Given the description of an element on the screen output the (x, y) to click on. 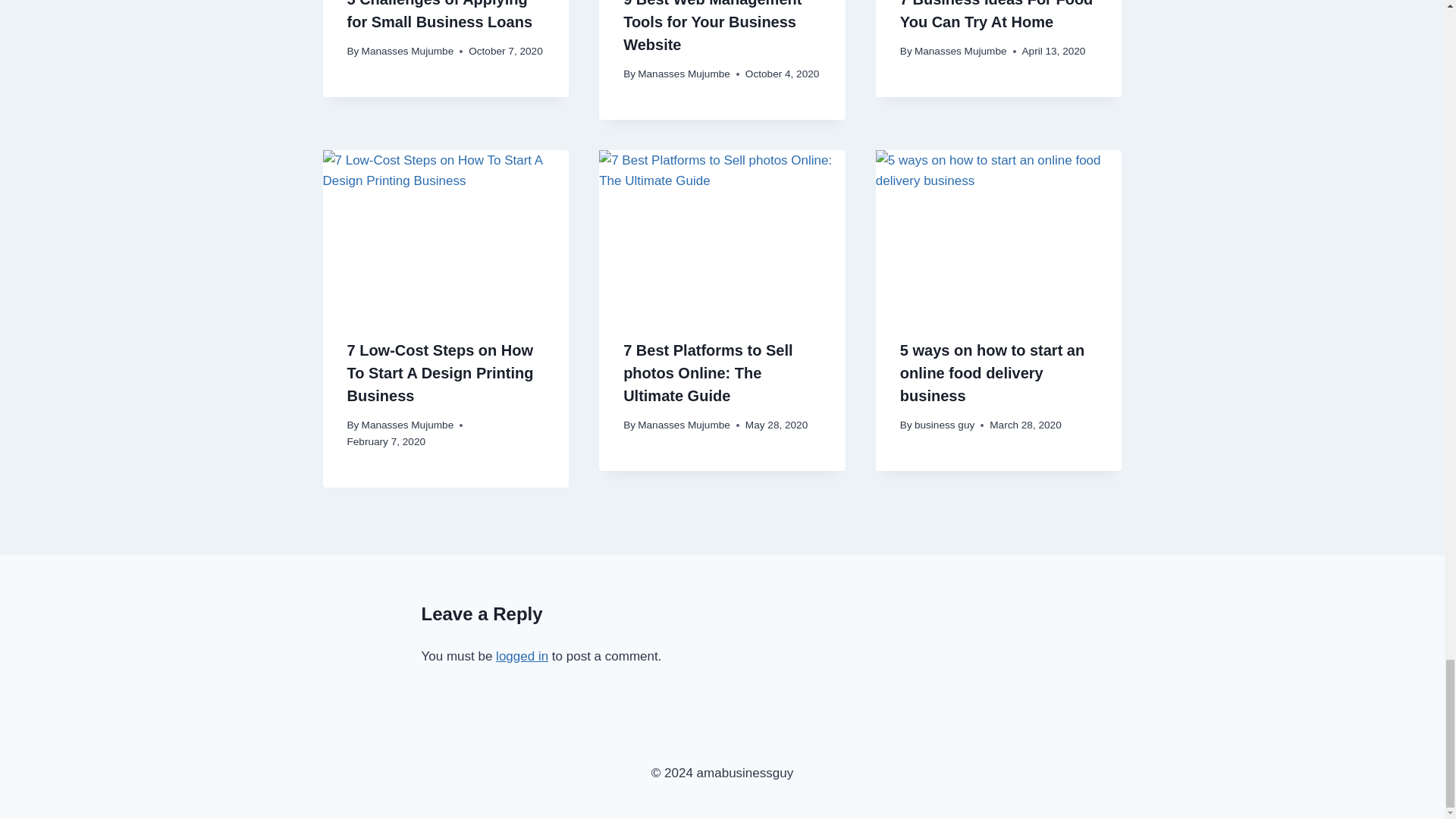
9 Best Web Management Tools for Your Business Website (712, 26)
5 Challenges of Applying for Small Business Loans (439, 15)
Manasses Mujumbe (407, 50)
Manasses Mujumbe (683, 73)
